Given the description of an element on the screen output the (x, y) to click on. 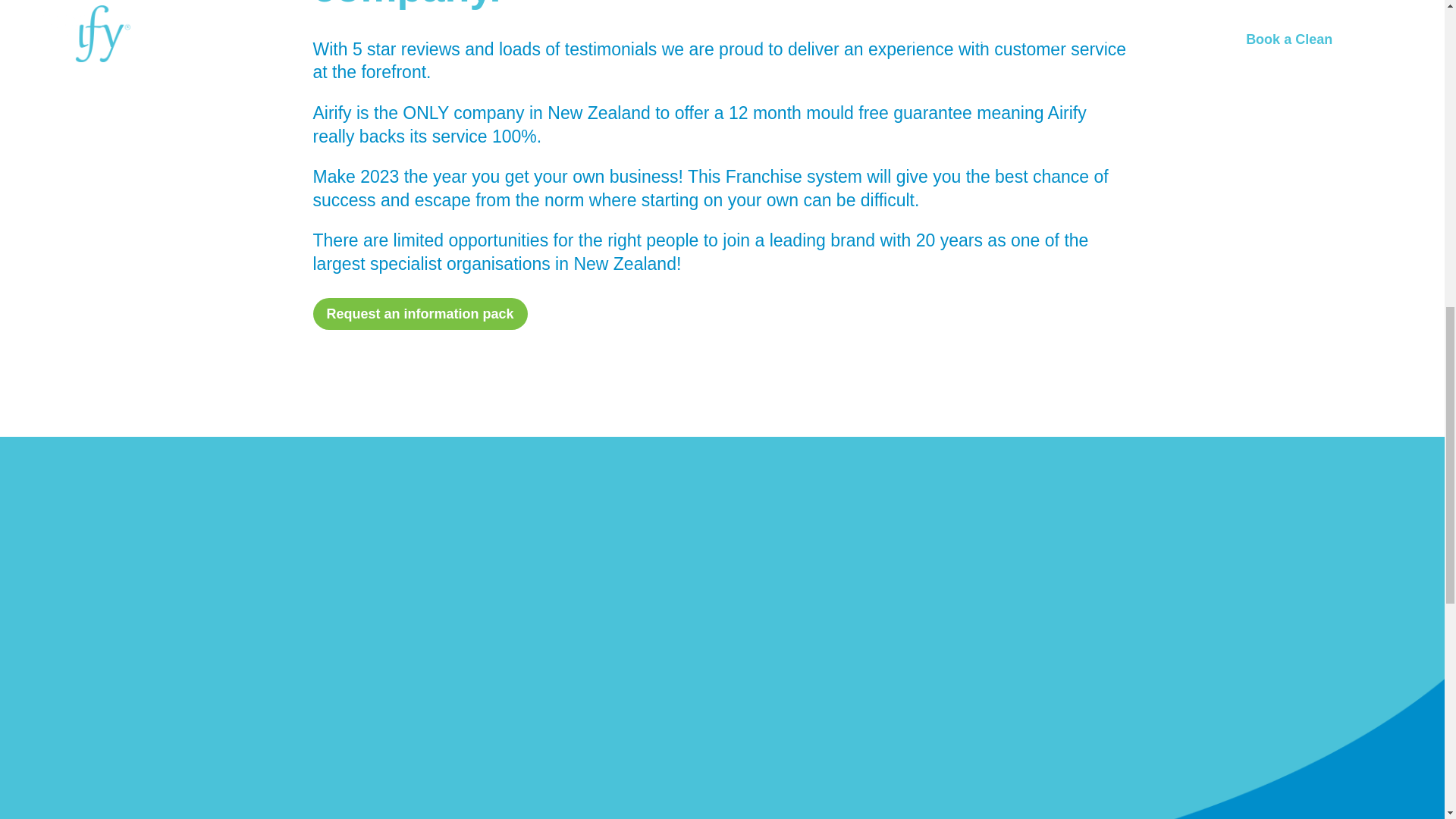
Request an information pack (420, 313)
